Given the description of an element on the screen output the (x, y) to click on. 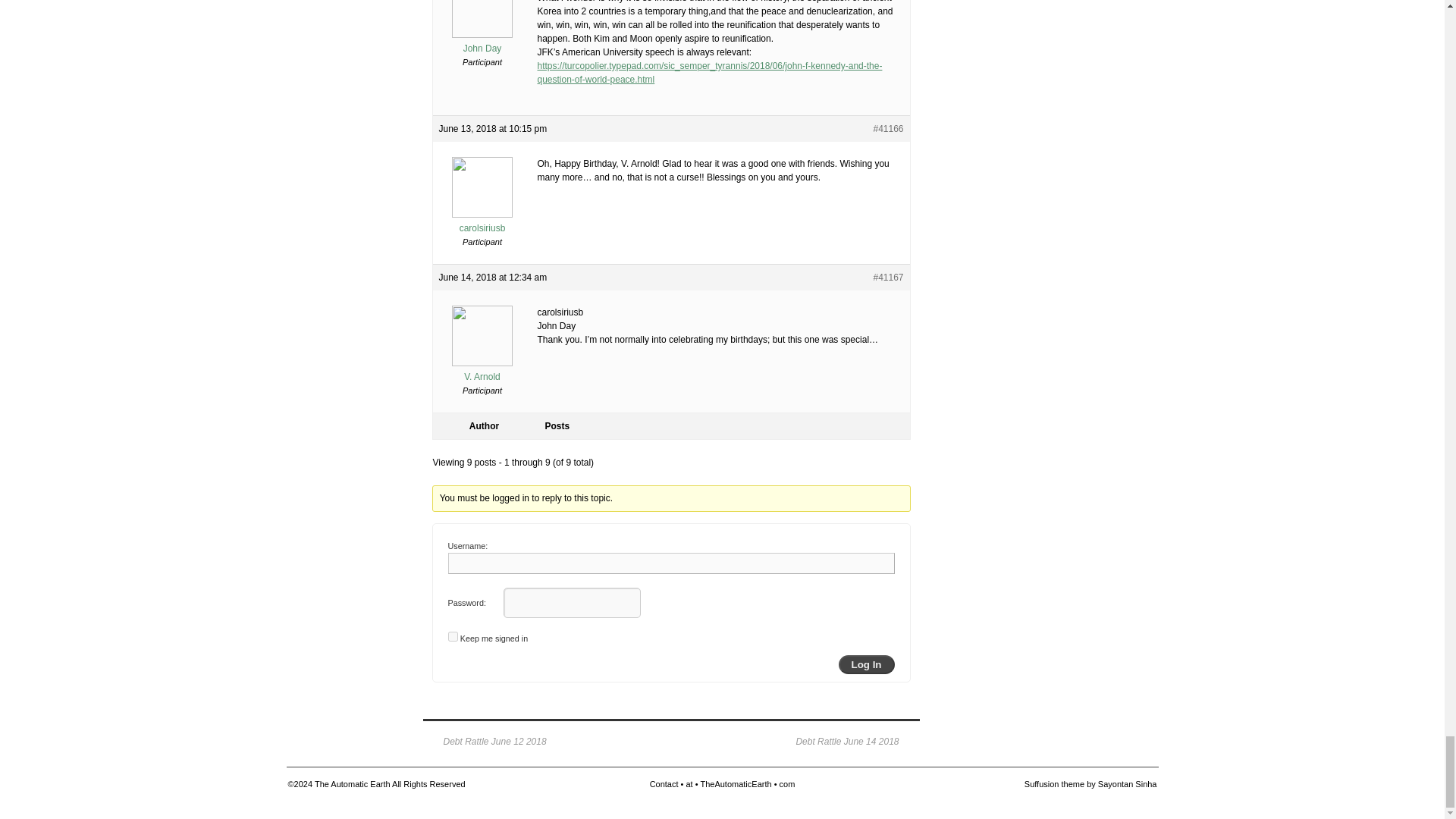
View carolsiriusb's profile (481, 222)
View V. Arnold's profile (481, 370)
forever (451, 636)
View John Day's profile (481, 42)
